Given the description of an element on the screen output the (x, y) to click on. 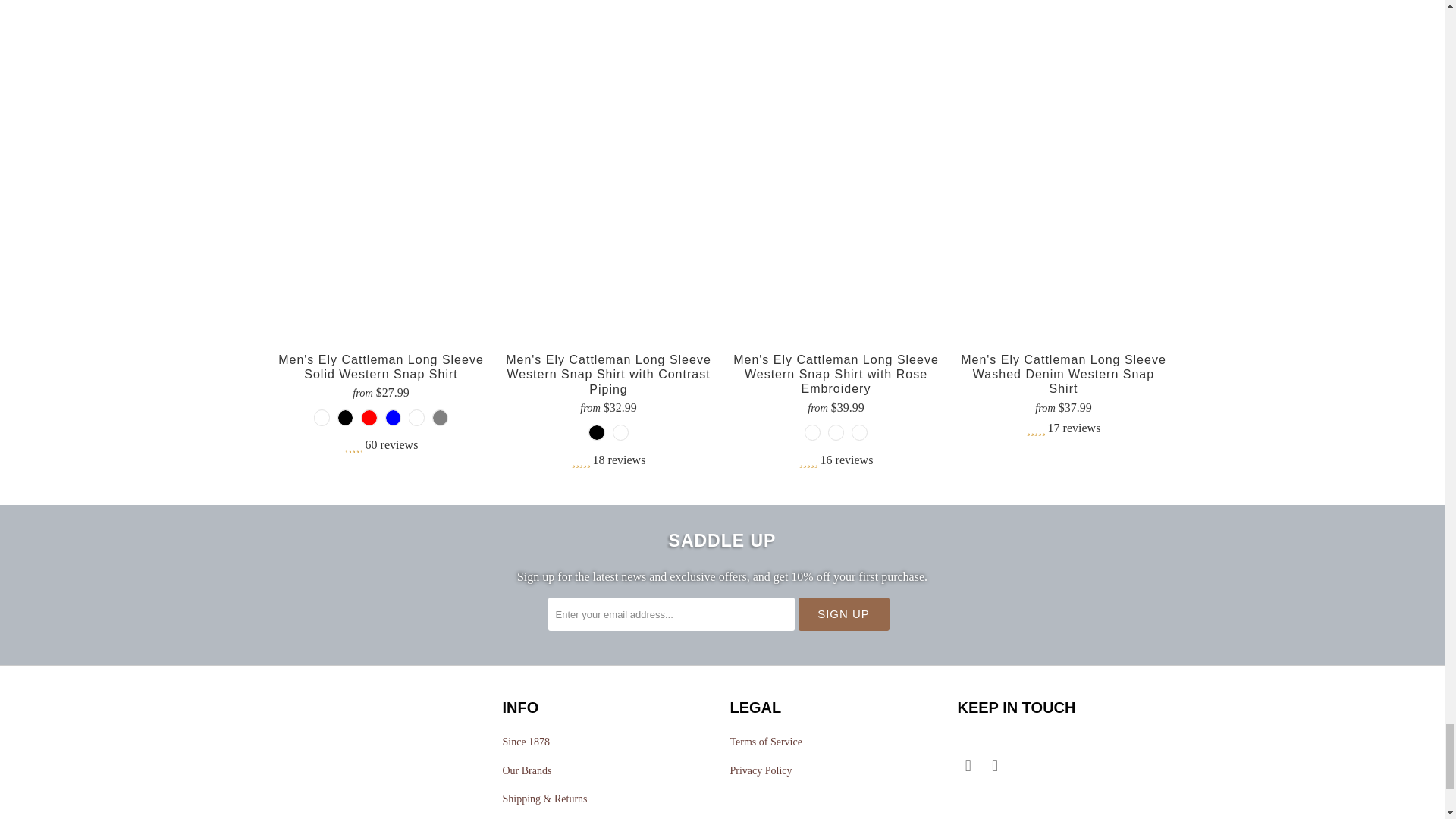
Ely Cattleman on Facebook (967, 765)
Sign Up (842, 613)
Enter your email address... (670, 613)
Ely Cattleman on Instagram (995, 765)
